Given the description of an element on the screen output the (x, y) to click on. 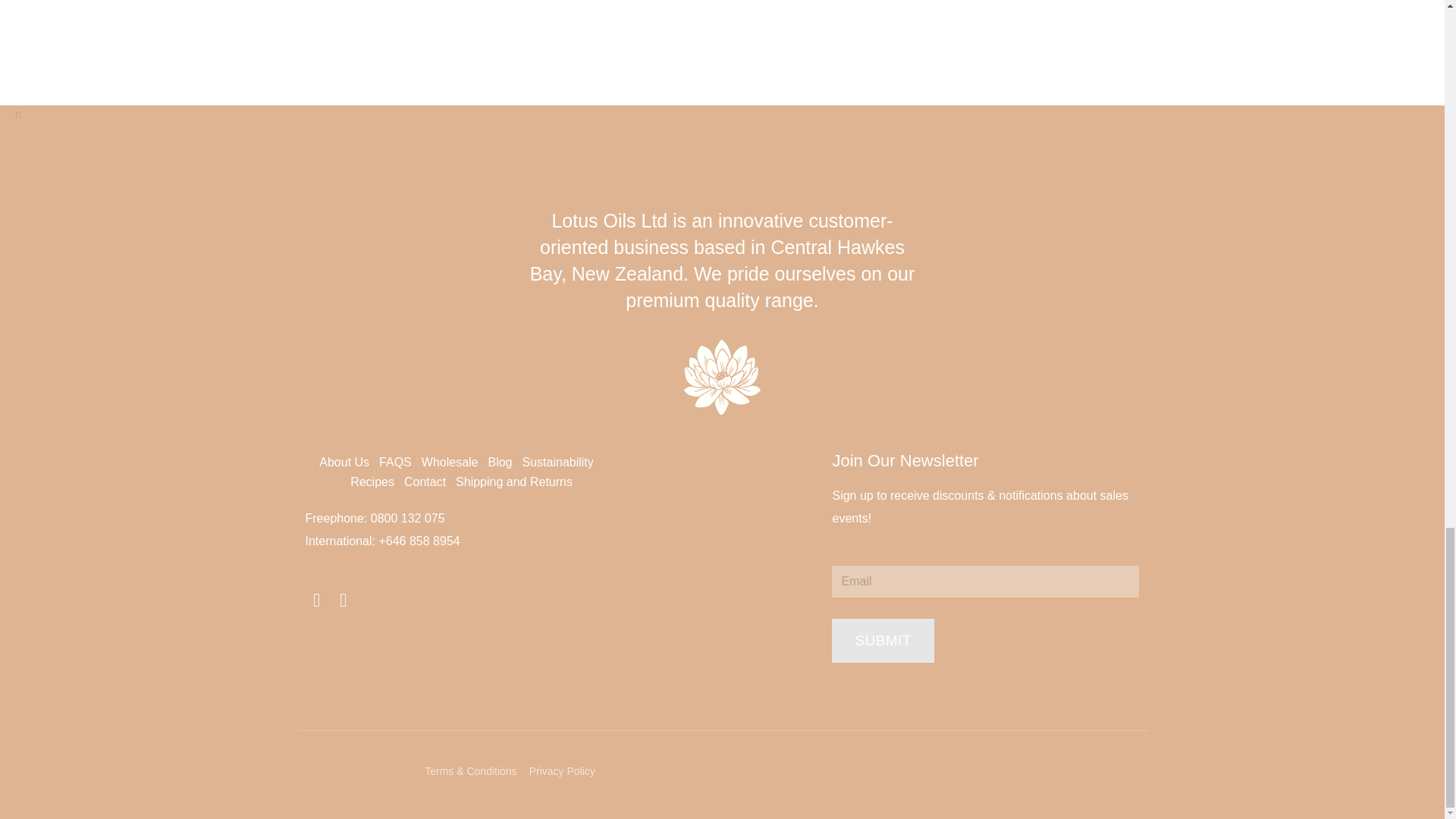
SUBMIT (882, 639)
